Given the description of an element on the screen output the (x, y) to click on. 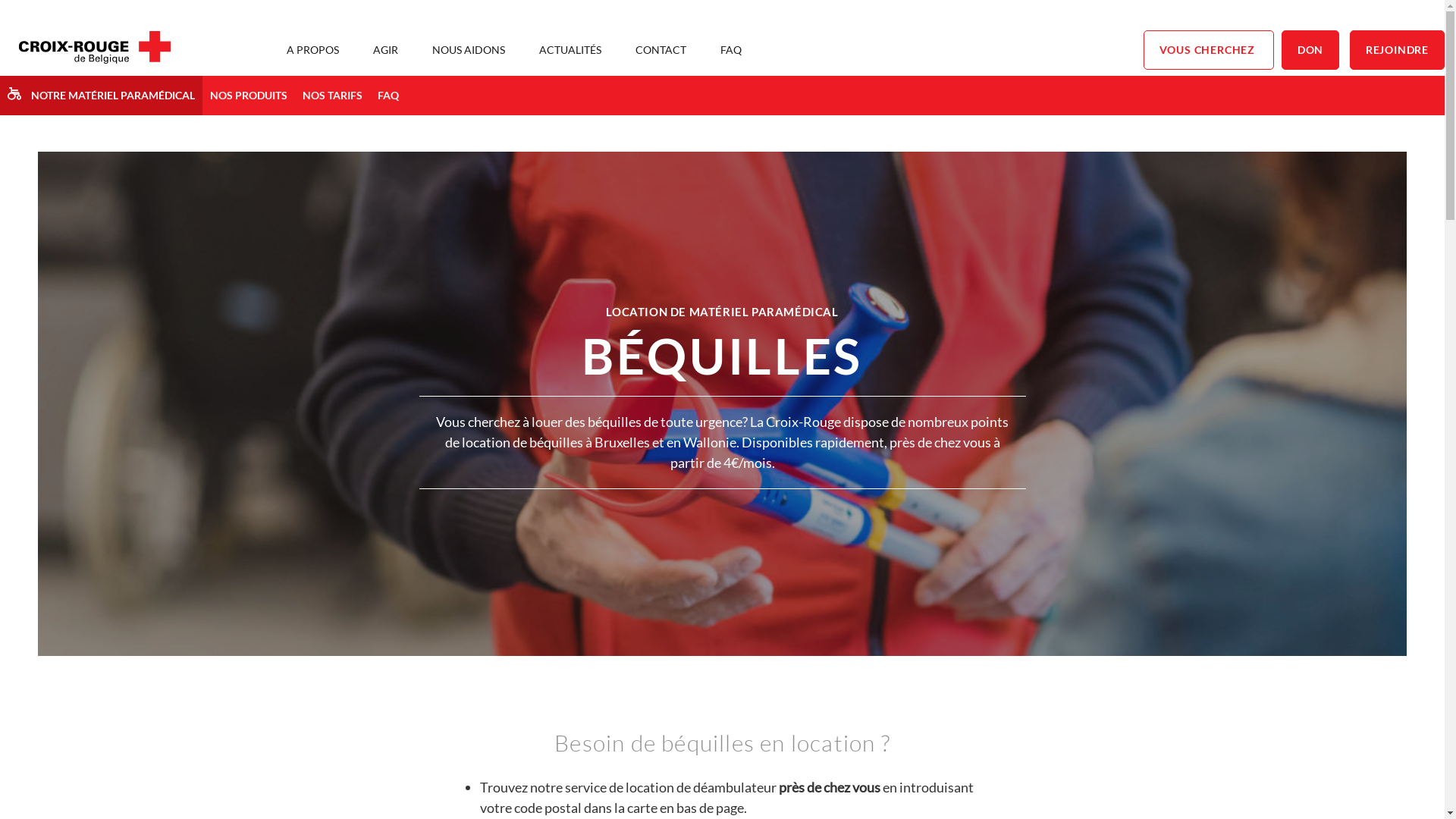
NOS TARIFS Element type: text (332, 95)
FAQ Element type: text (730, 49)
NOUS AIDONS Element type: text (468, 49)
FAQ Element type: text (388, 95)
AGIR Element type: text (385, 49)
CONTACT Element type: text (660, 49)
REJOINDRE Element type: text (1396, 49)
A PROPOS Element type: text (312, 49)
VOUS CHERCHEZ Element type: text (1208, 49)
NOS PRODUITS Element type: text (248, 95)
DON Element type: text (1310, 49)
